Given the description of an element on the screen output the (x, y) to click on. 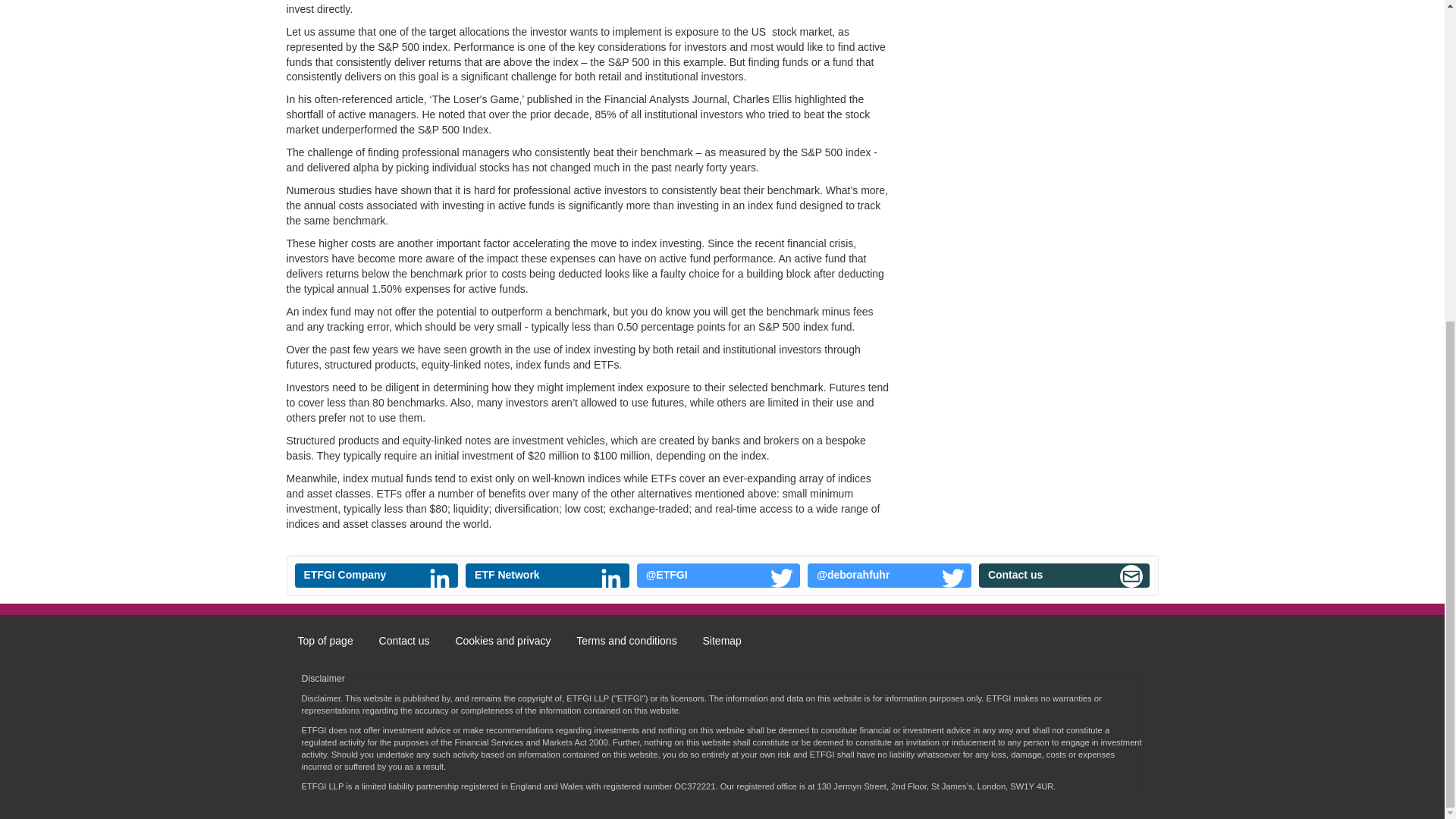
ETFGI Company (376, 575)
ETF Network (546, 575)
